Given the description of an element on the screen output the (x, y) to click on. 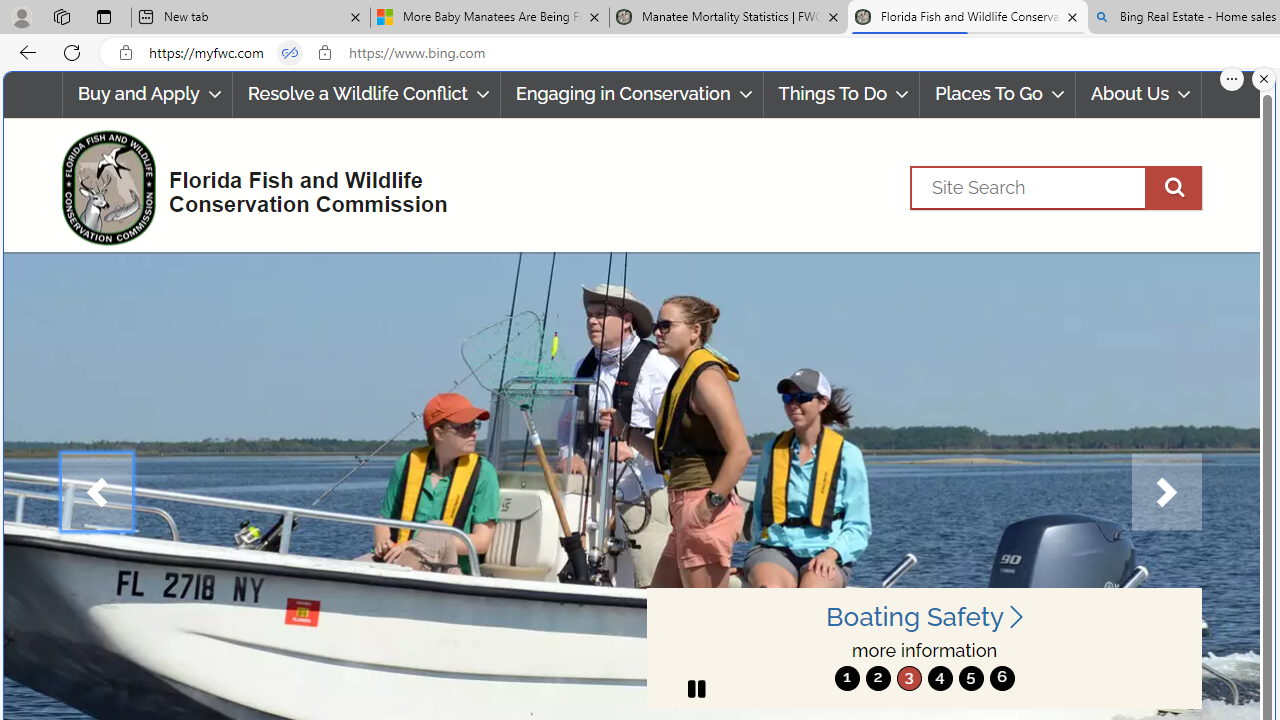
Resolve a Wildlife Conflict (365, 94)
